Given the description of an element on the screen output the (x, y) to click on. 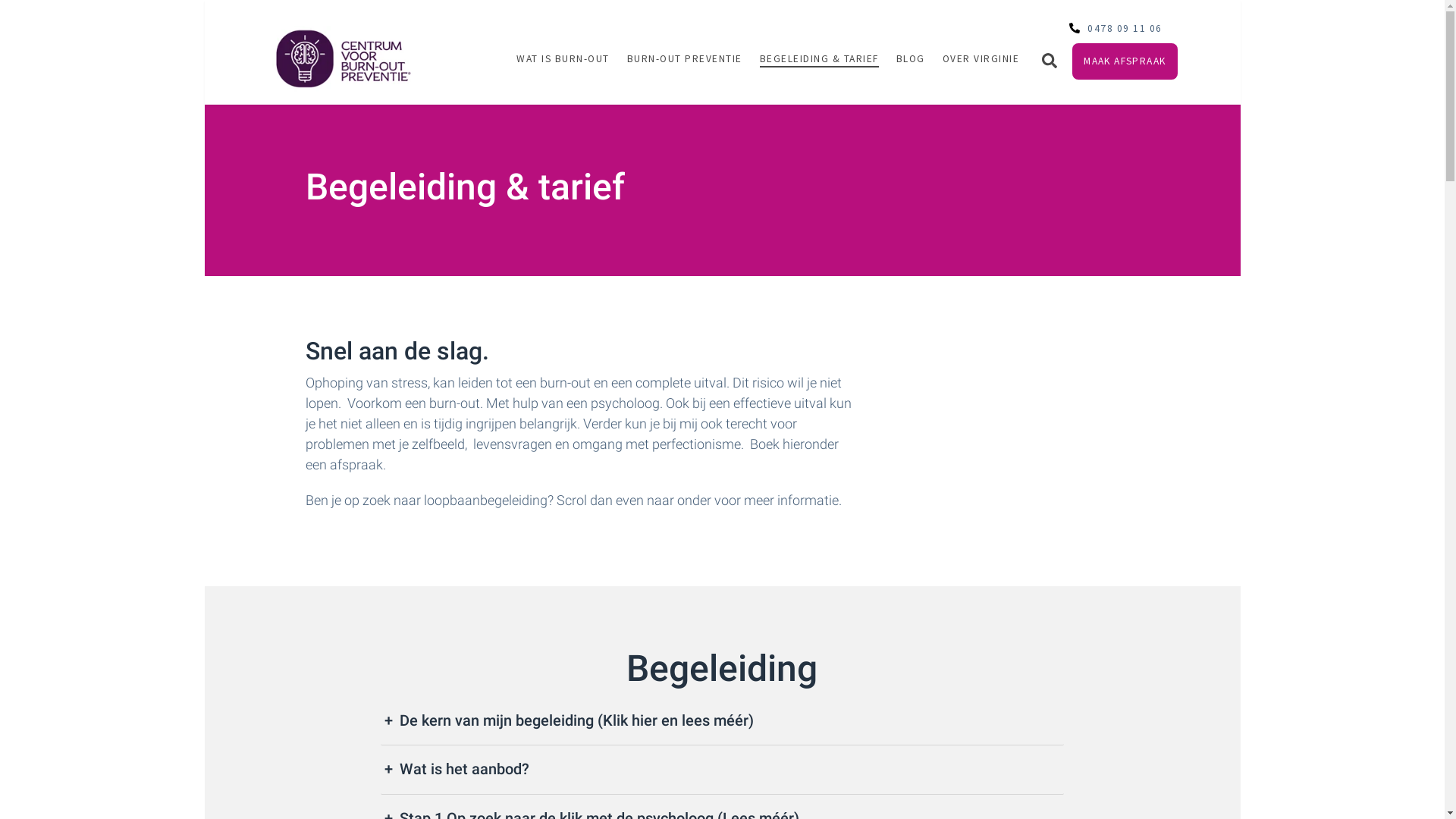
OVER VIRGINIE Element type: text (980, 58)
MAAK AFSPRAAK Element type: text (1124, 60)
centrum-voor-burn-out-preventie Element type: hover (342, 58)
BLOG Element type: text (910, 58)
WAT IS BURN-OUT Element type: text (562, 58)
BURN-OUT PREVENTIE Element type: text (684, 58)
  0478 09 11 06 Element type: text (1115, 17)
BEGELEIDING & TARIEF Element type: text (818, 58)
